Given the description of an element on the screen output the (x, y) to click on. 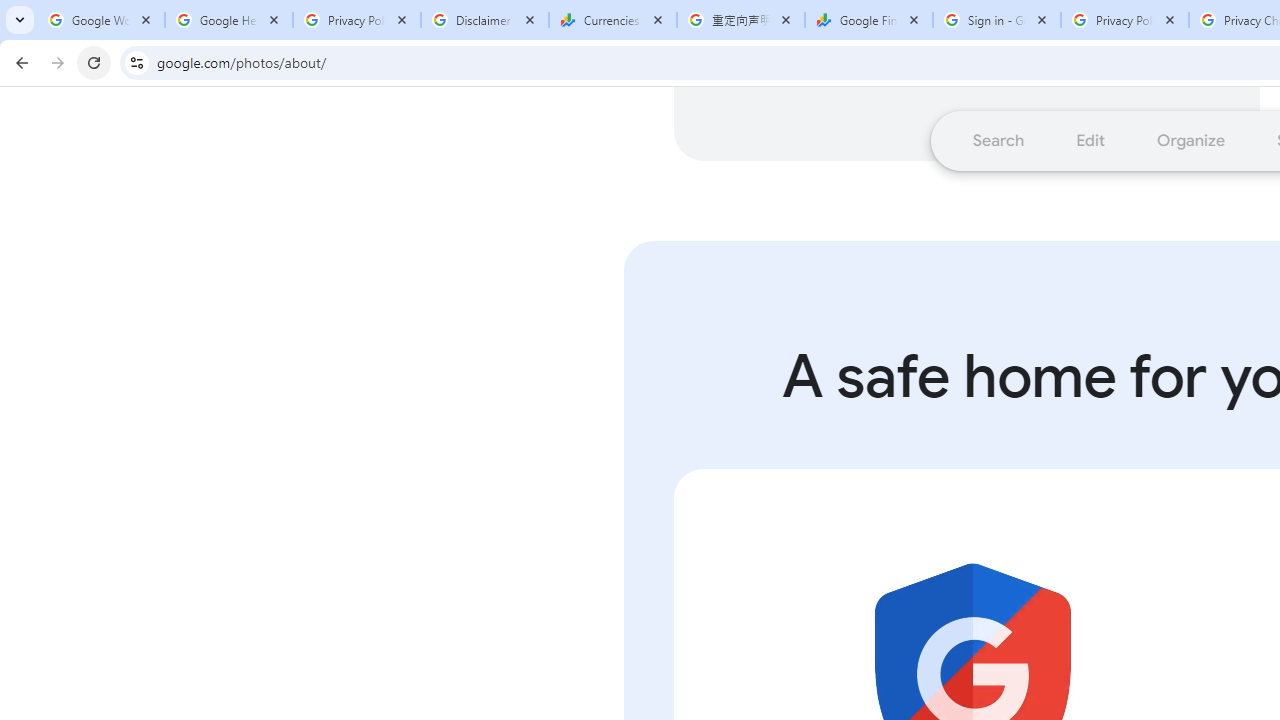
Sign in - Google Accounts (997, 20)
Google Workspace Admin Community (101, 20)
Go to section: Edit (1090, 140)
Go to section: Organize (1191, 140)
